Given the description of an element on the screen output the (x, y) to click on. 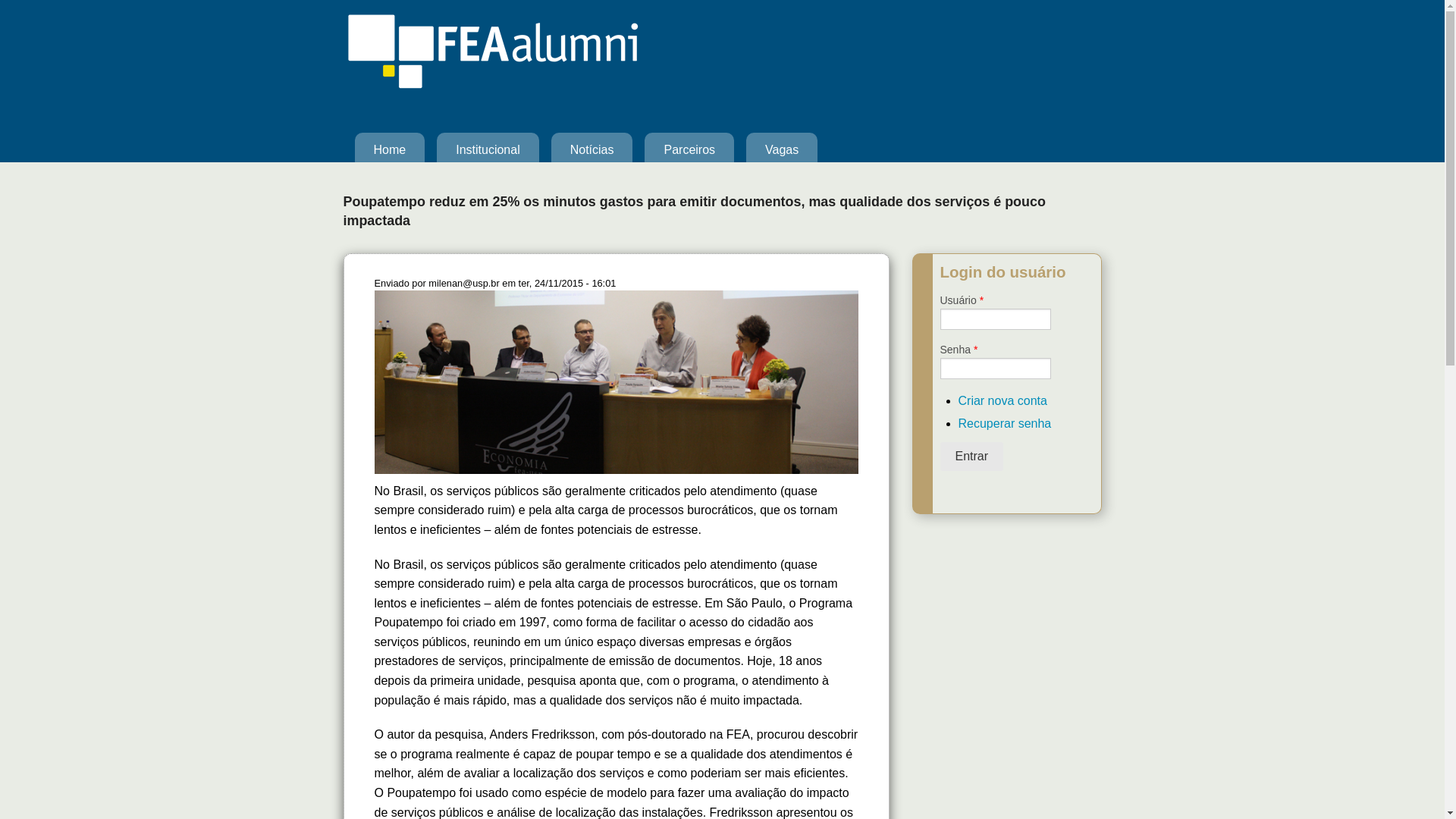
Home Element type: text (389, 149)
Entrar Element type: text (972, 456)
Criar nova conta Element type: text (1002, 400)
Recuperar senha Element type: text (1004, 423)
